Given the description of an element on the screen output the (x, y) to click on. 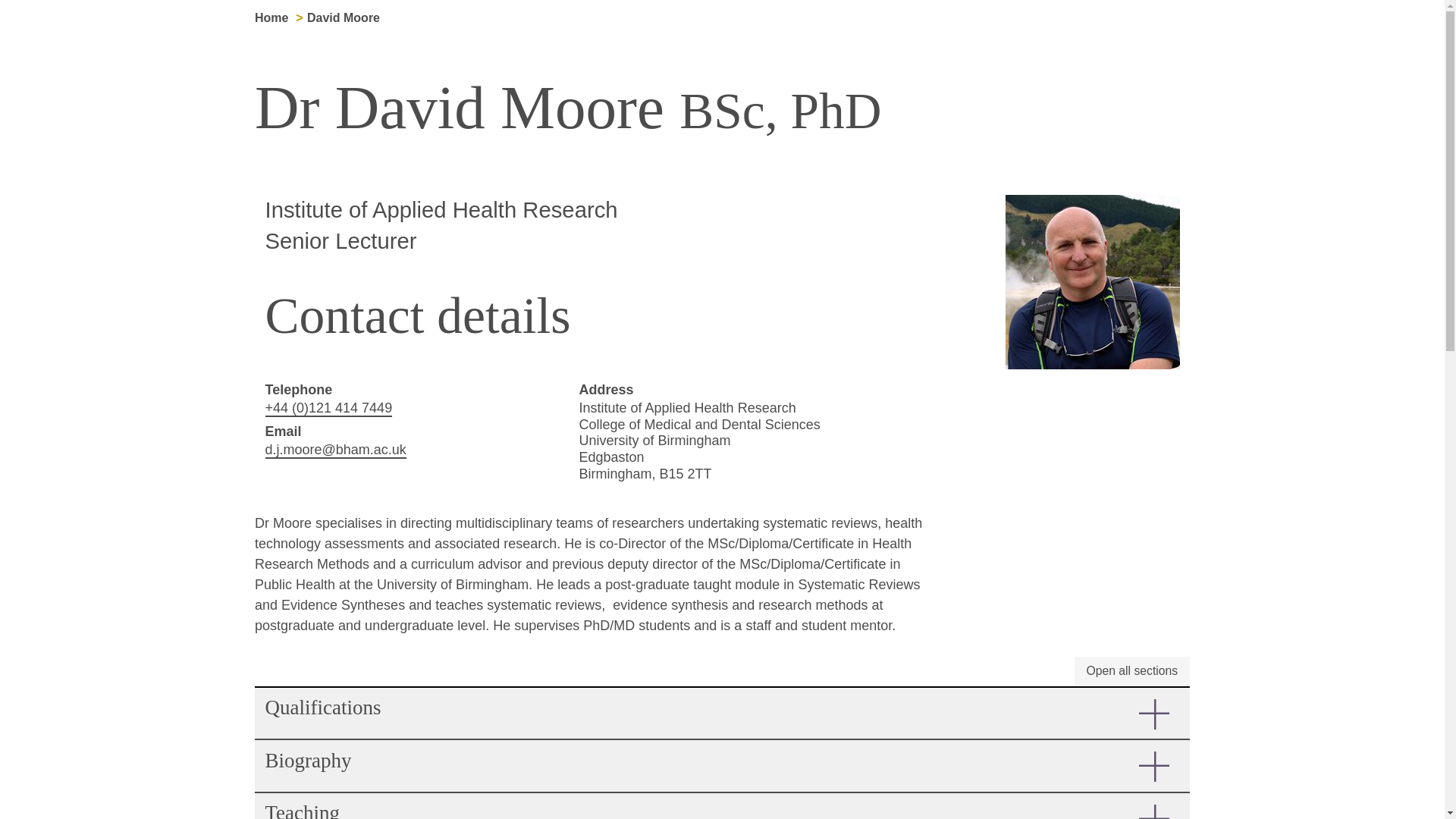
David Moore (343, 18)
Home (271, 18)
Open all sections (1131, 671)
